Given the description of an element on the screen output the (x, y) to click on. 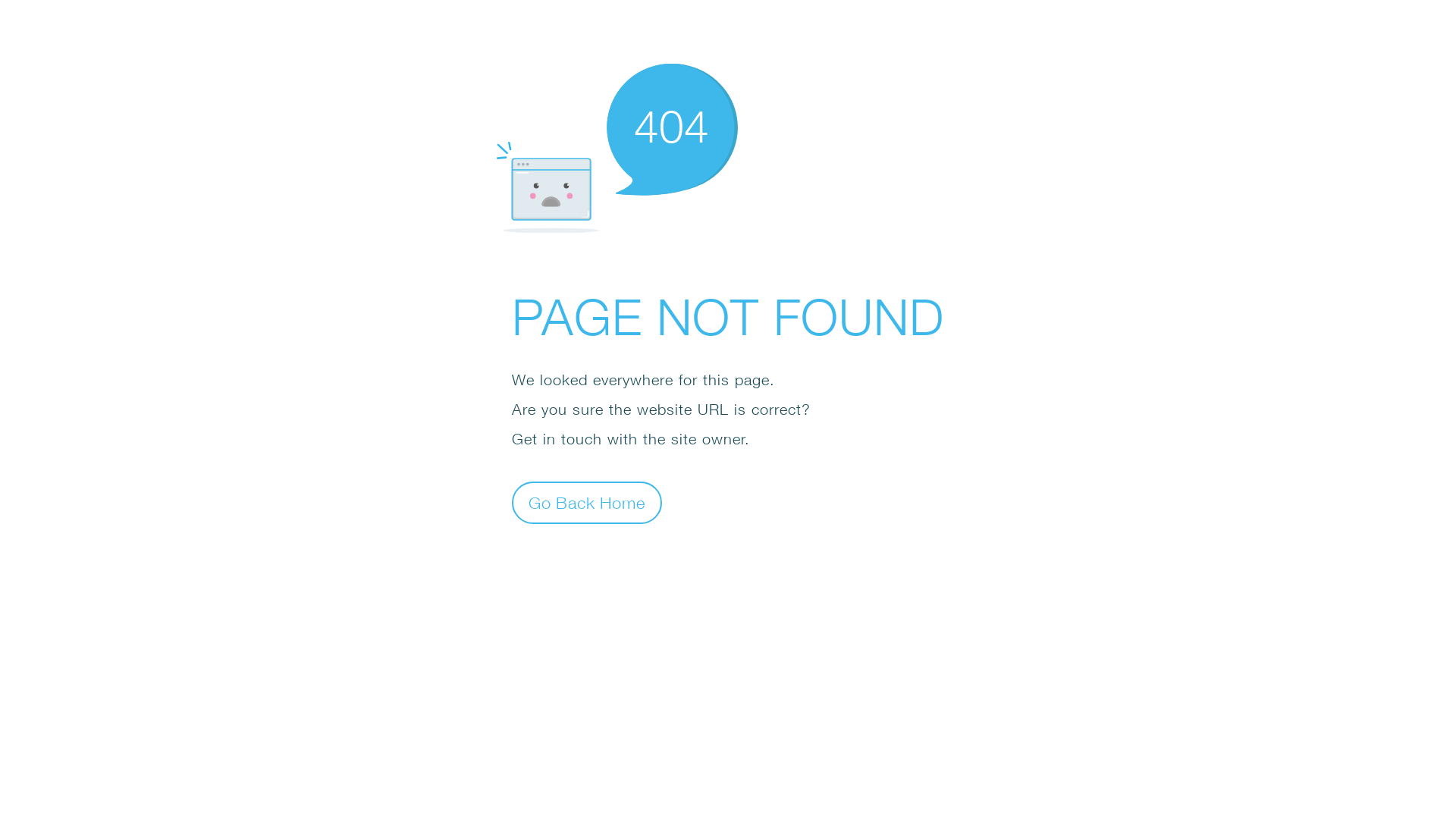
Go Back Home Element type: text (586, 502)
